Given the description of an element on the screen output the (x, y) to click on. 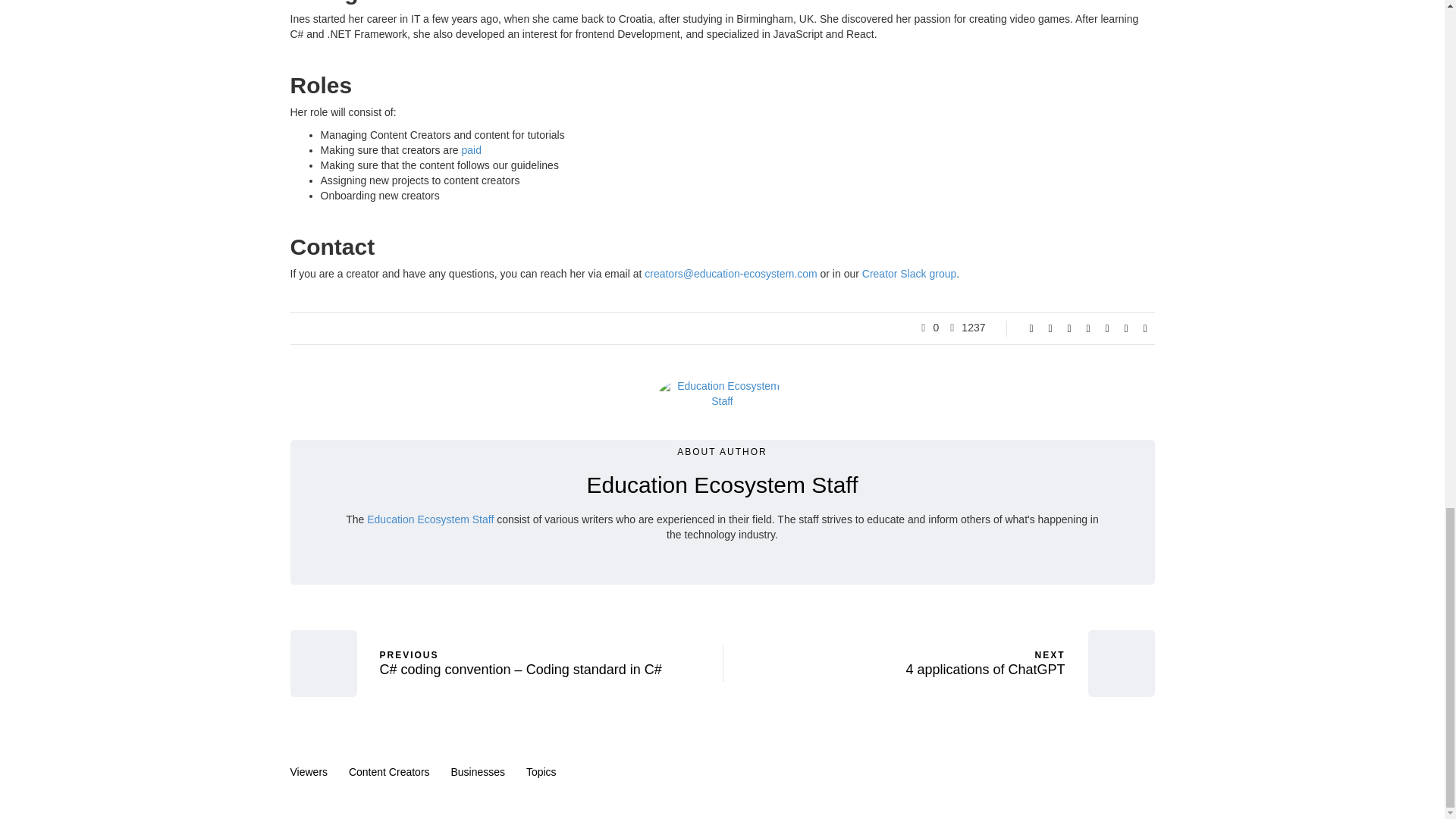
Share with LinkedIn (1087, 328)
Share by Email (1144, 328)
Share with Google Plus (1068, 328)
Share with Facebook (1031, 328)
Pin this (1106, 328)
Tweet this (1050, 328)
Posts by Education Ecosystem Staff (722, 484)
Share with VKontakte (1125, 328)
